Given the description of an element on the screen output the (x, y) to click on. 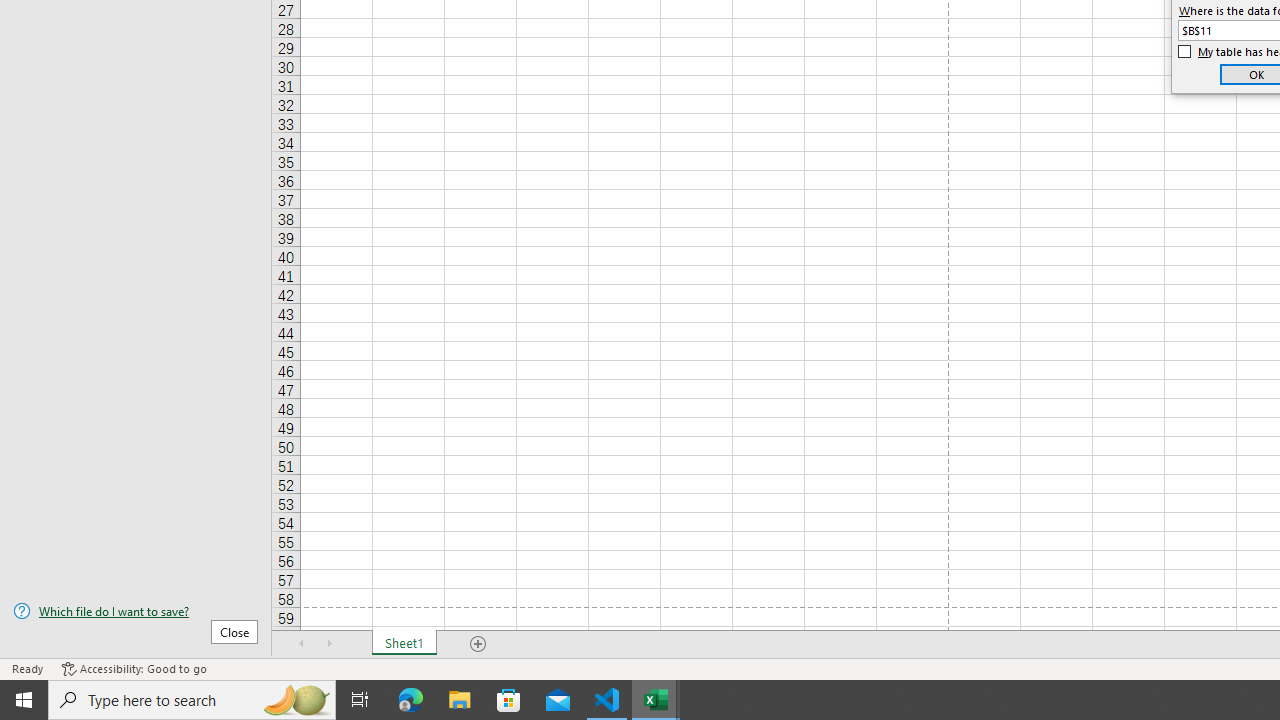
Sheet1 (404, 644)
Accessibility Checker Accessibility: Good to go (134, 668)
Close (234, 631)
Scroll Left (302, 644)
Which file do I want to save? (136, 611)
Scroll Right (330, 644)
Add Sheet (478, 644)
